Given the description of an element on the screen output the (x, y) to click on. 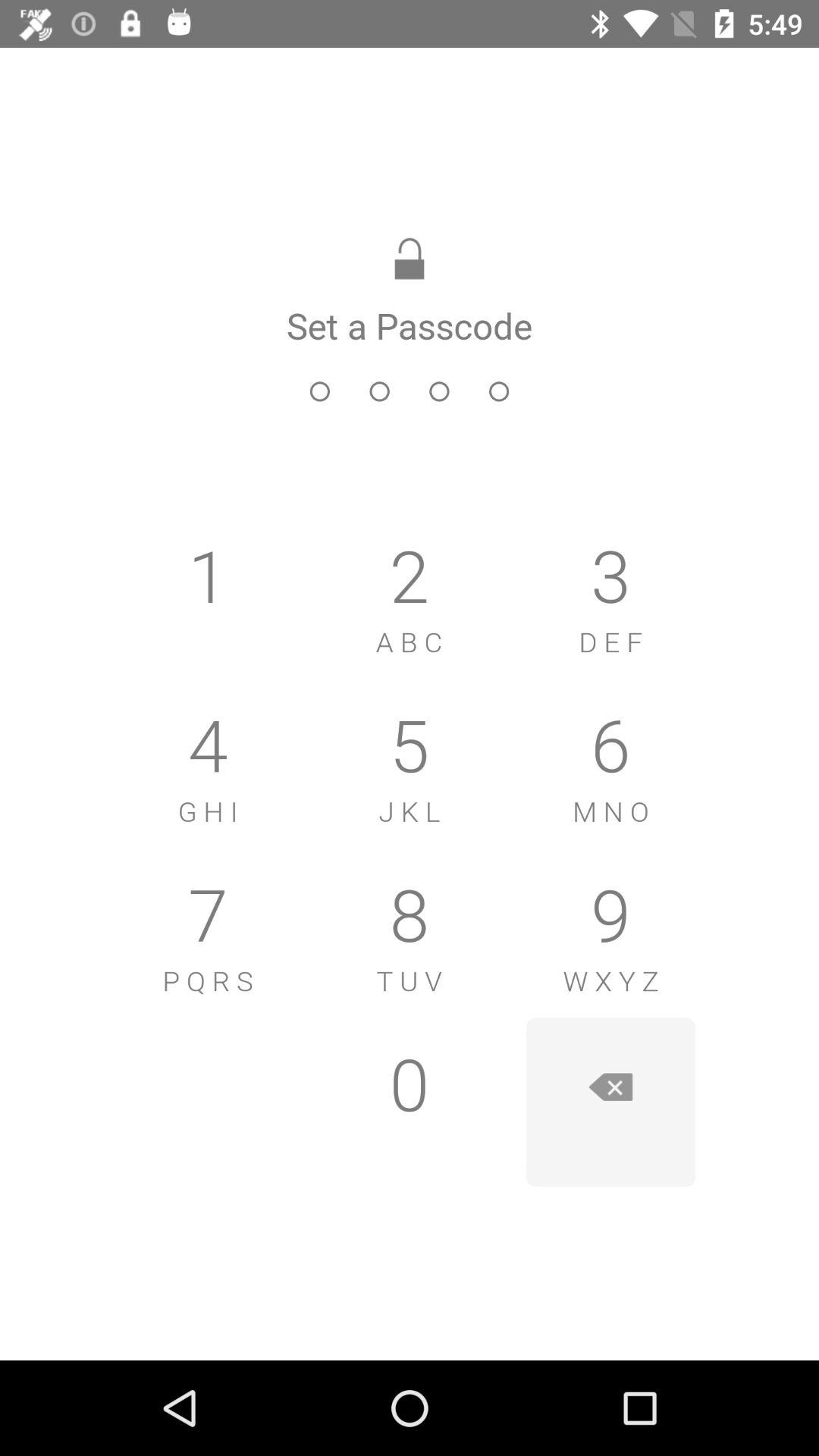
click the symbol next to zero (610, 1101)
